Given the description of an element on the screen output the (x, y) to click on. 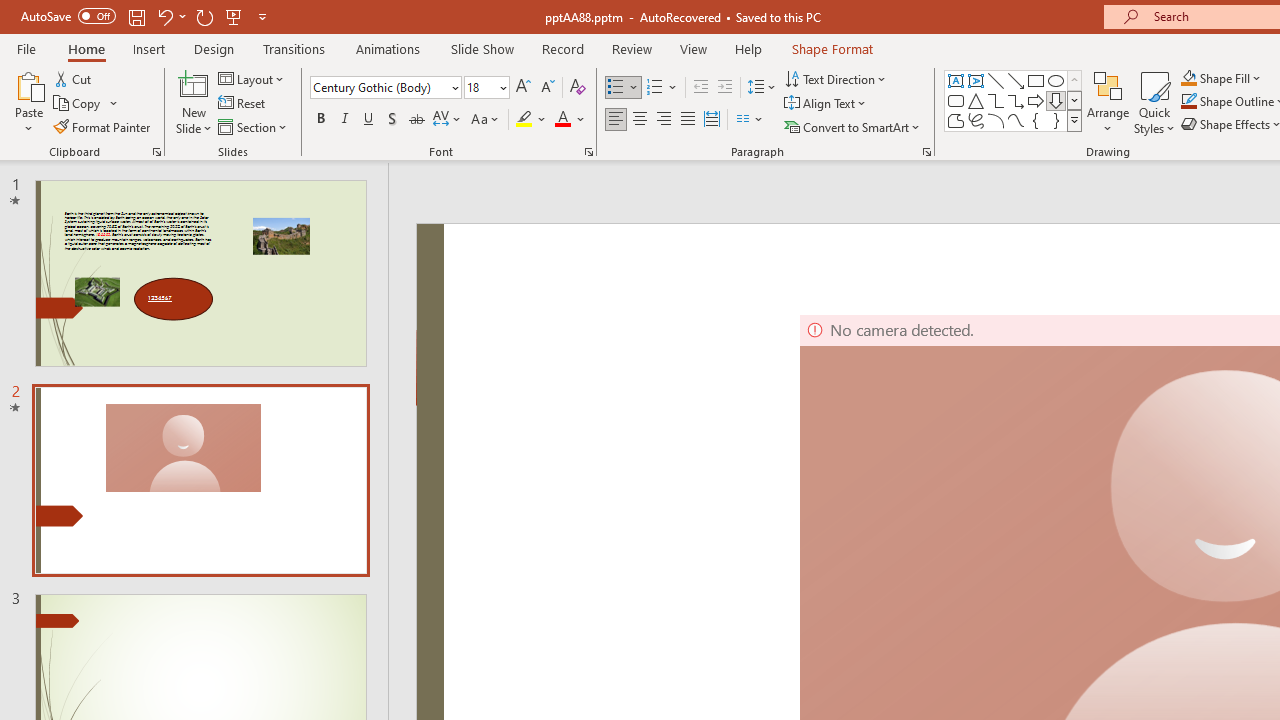
Connector: Elbow Arrow (1016, 100)
AutomationID: ShapesInsertGallery (1014, 100)
Oval (1055, 80)
Home (86, 48)
Paste (28, 84)
Quick Styles (1154, 102)
Font Color (569, 119)
More Options (1232, 78)
Font Color Red (562, 119)
Clear Formatting (577, 87)
Character Spacing (447, 119)
Animations (388, 48)
Section (254, 126)
Font Size (486, 87)
Line Arrow (1016, 80)
